Given the description of an element on the screen output the (x, y) to click on. 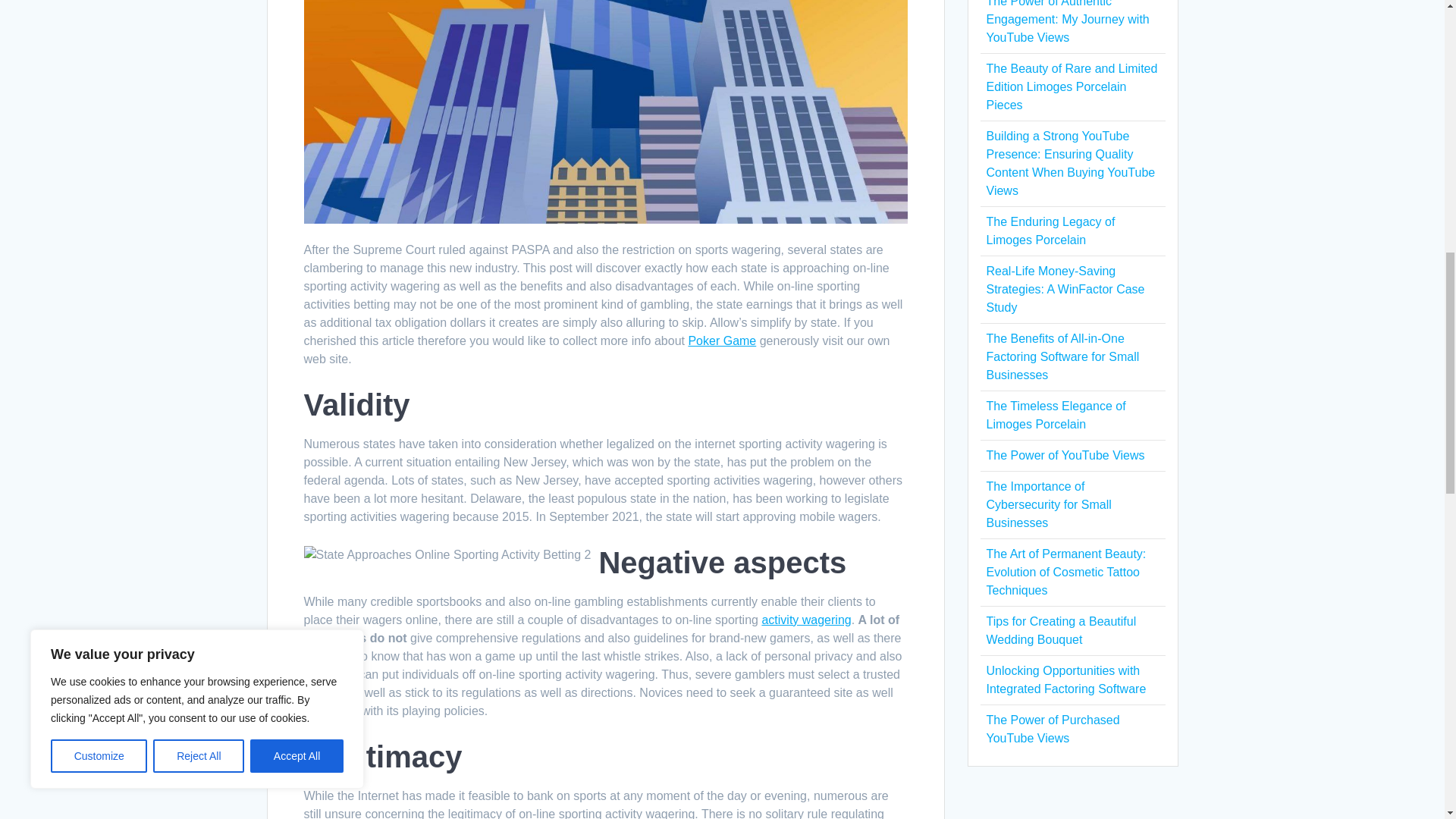
The Enduring Legacy of Limoges Porcelain (1050, 230)
Real-Life Money-Saving Strategies: A WinFactor Case Study (1064, 288)
activity wagering (805, 619)
Poker Game (721, 340)
